Given the description of an element on the screen output the (x, y) to click on. 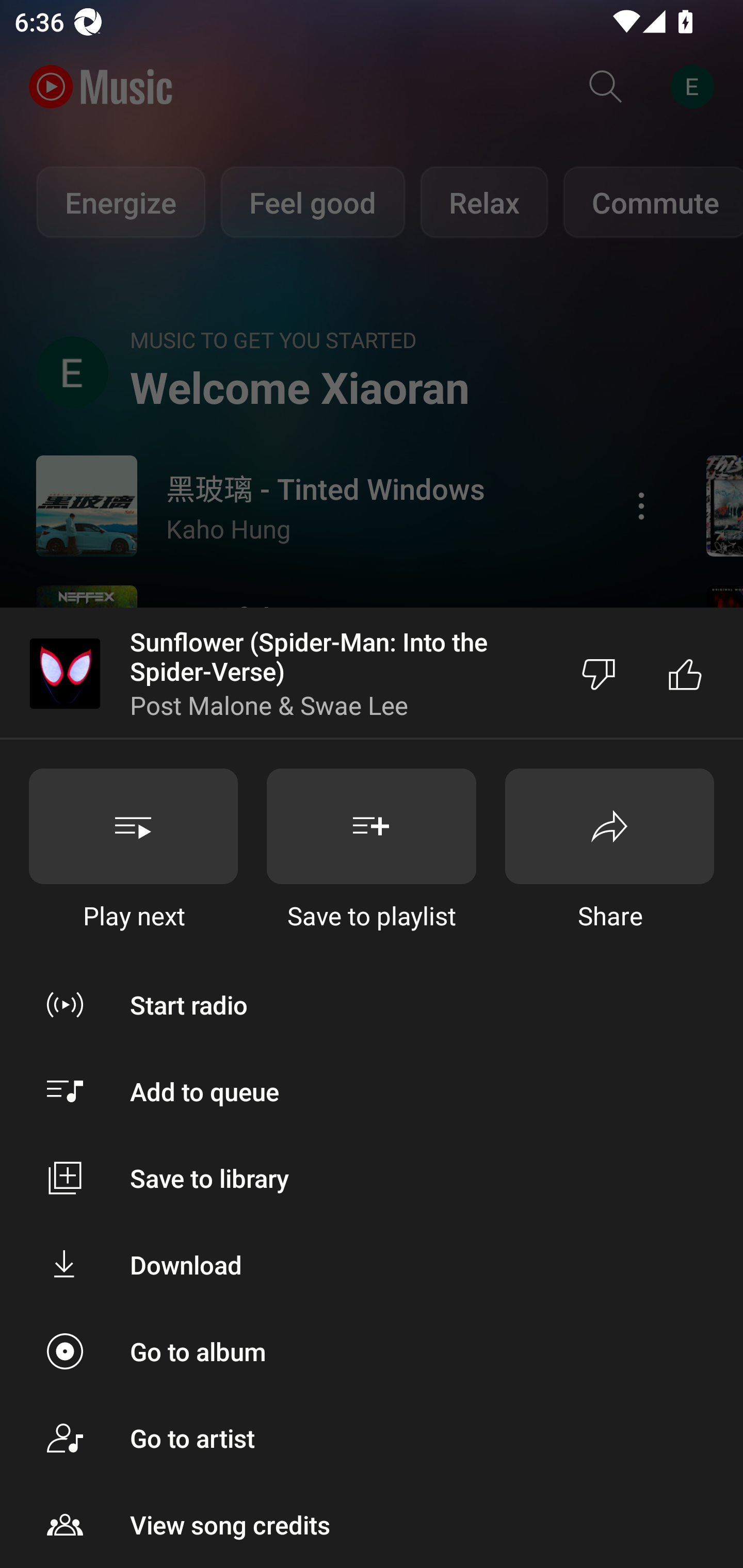
Dislike (598, 673)
Like (684, 673)
Start radio (371, 1004)
Add to queue (371, 1091)
Save to library (371, 1178)
Download (371, 1264)
Go to album (371, 1350)
Go to artist (371, 1437)
View song credits (371, 1524)
